Given the description of an element on the screen output the (x, y) to click on. 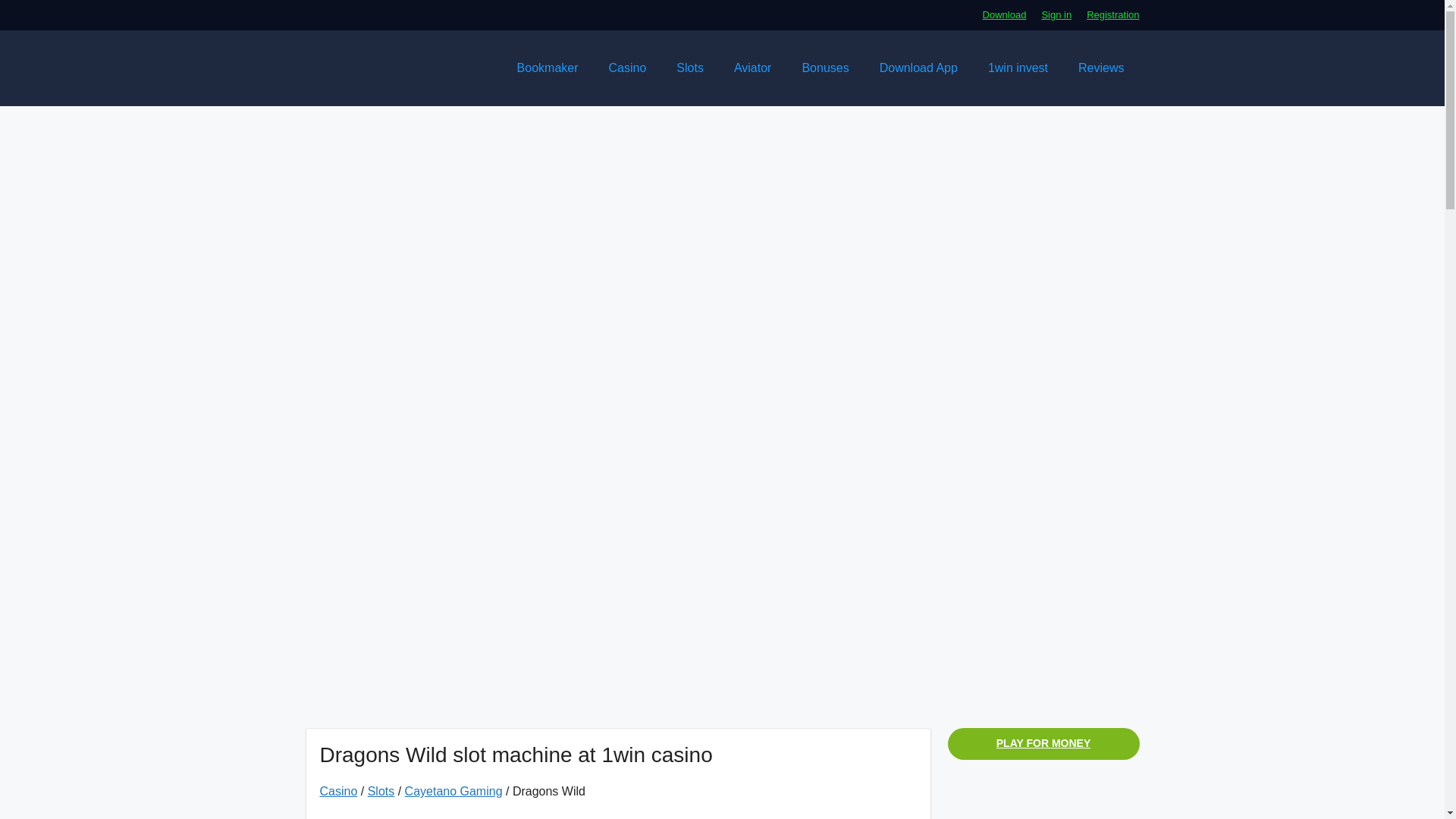
PLAY FOR MONEY (1043, 744)
Cayetano Gaming (453, 790)
Bookmaker (548, 67)
Casino (339, 790)
1win invest (1017, 67)
Registration (1112, 14)
Slots (381, 790)
Casino (628, 67)
Aviator (753, 67)
Download (1004, 14)
